Given the description of an element on the screen output the (x, y) to click on. 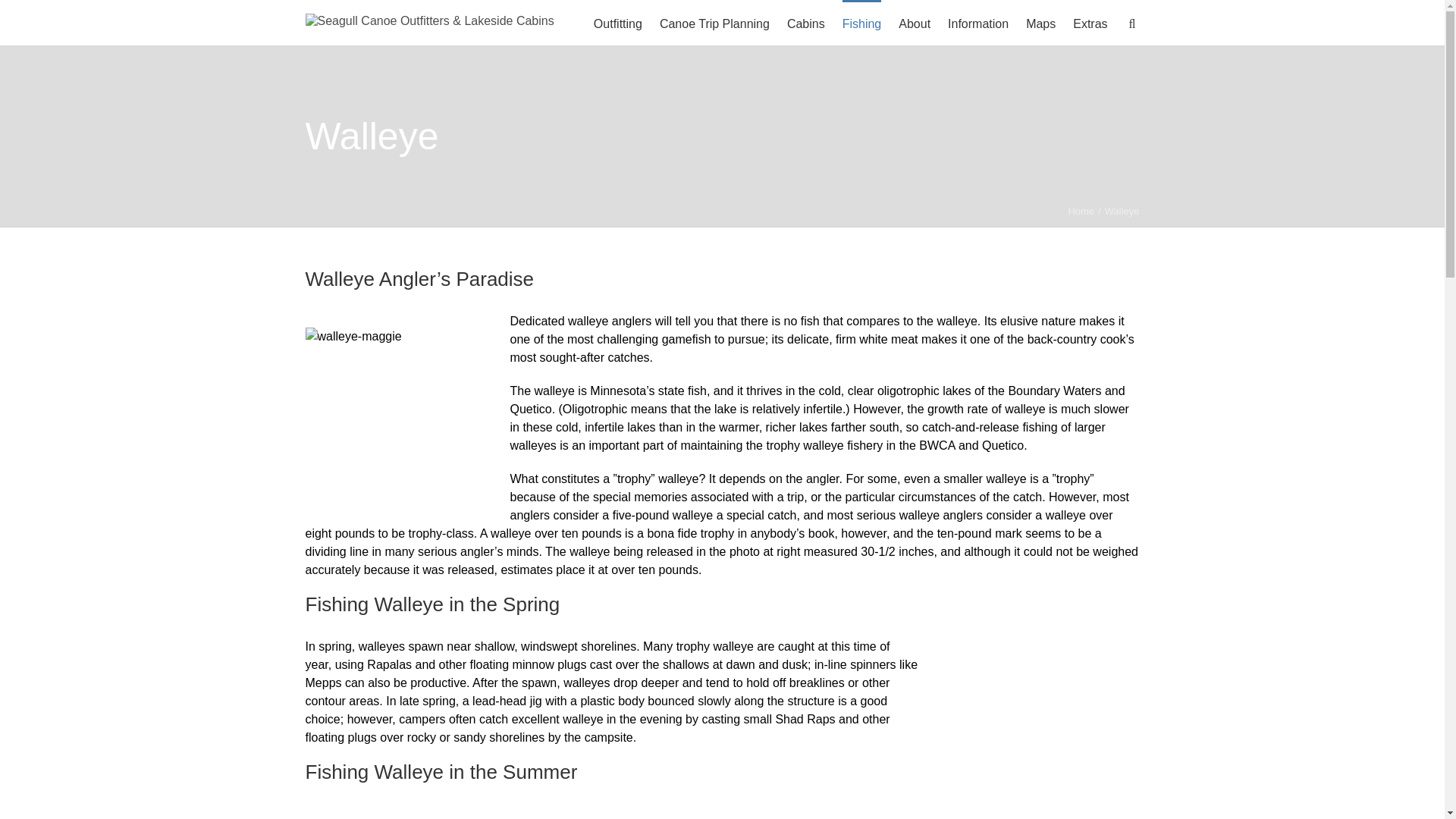
Canoe Trip Planning (714, 22)
Outfitting (618, 22)
